Given the description of an element on the screen output the (x, y) to click on. 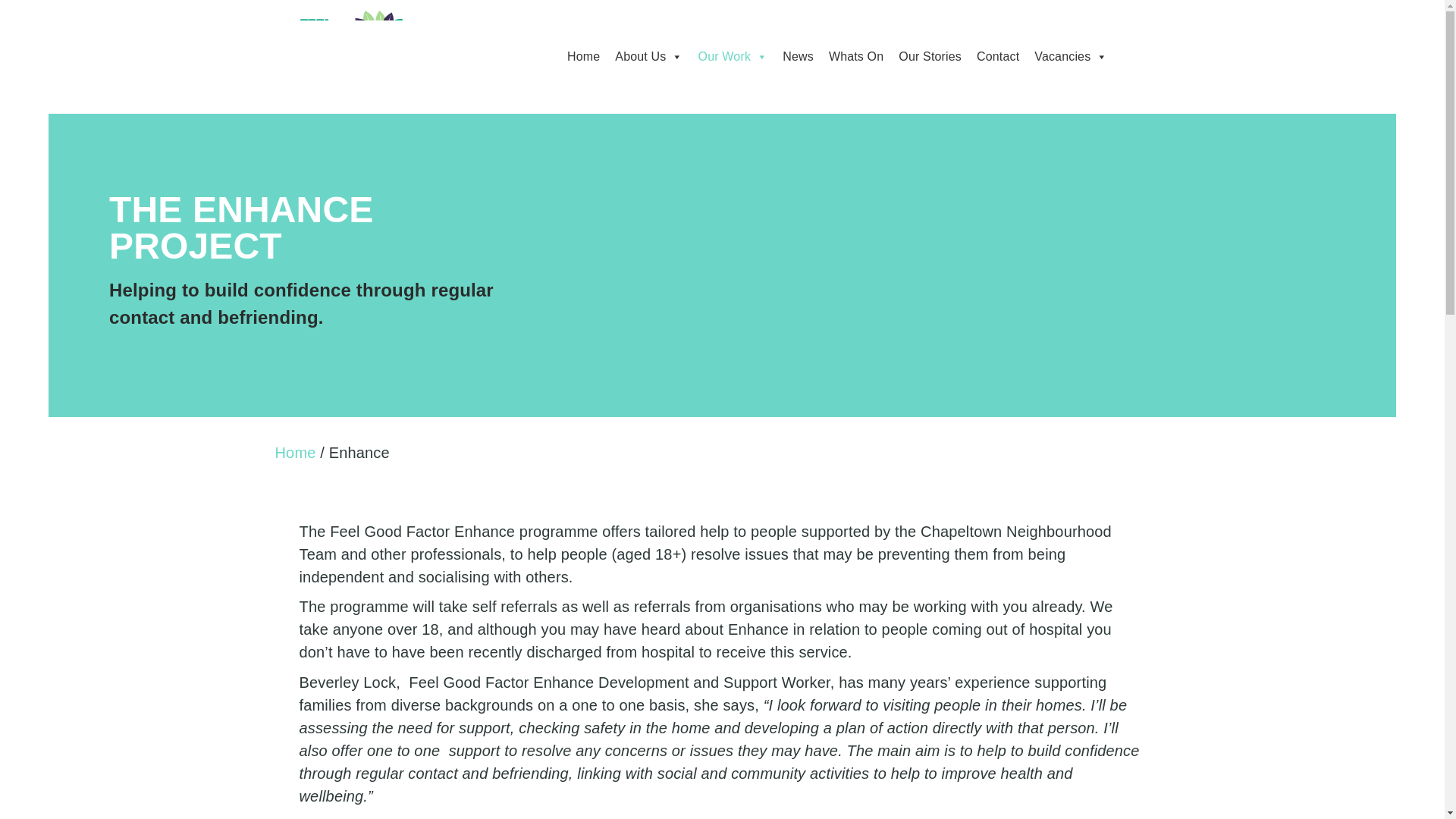
Contact (997, 56)
Home (583, 56)
Our Stories (930, 56)
Whats On (856, 56)
About Us (648, 56)
Home (295, 452)
Vacancies (1070, 56)
News (797, 56)
Our Work (733, 56)
